Given the description of an element on the screen output the (x, y) to click on. 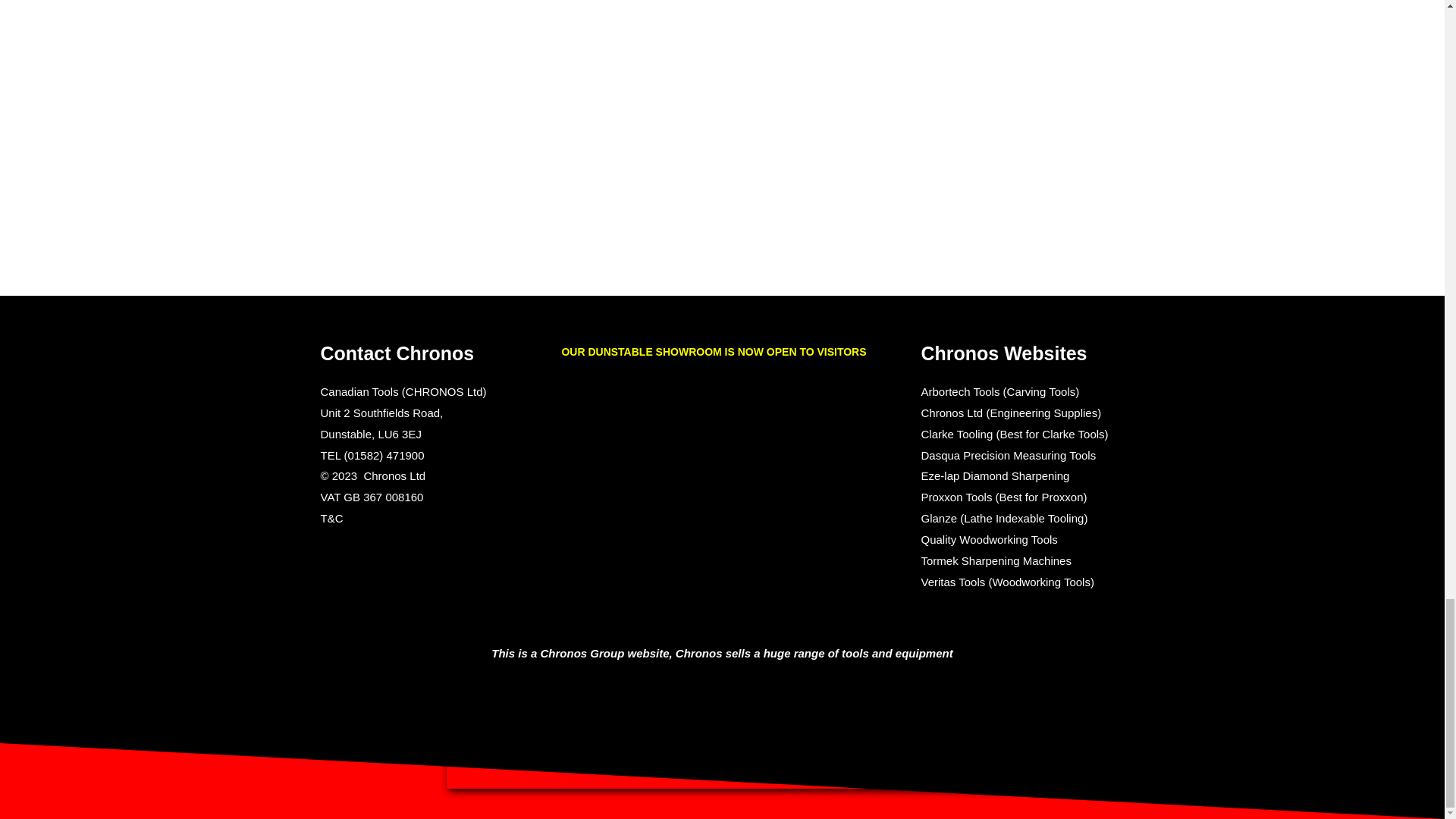
Chronos Engineering Tools (721, 751)
